Given the description of an element on the screen output the (x, y) to click on. 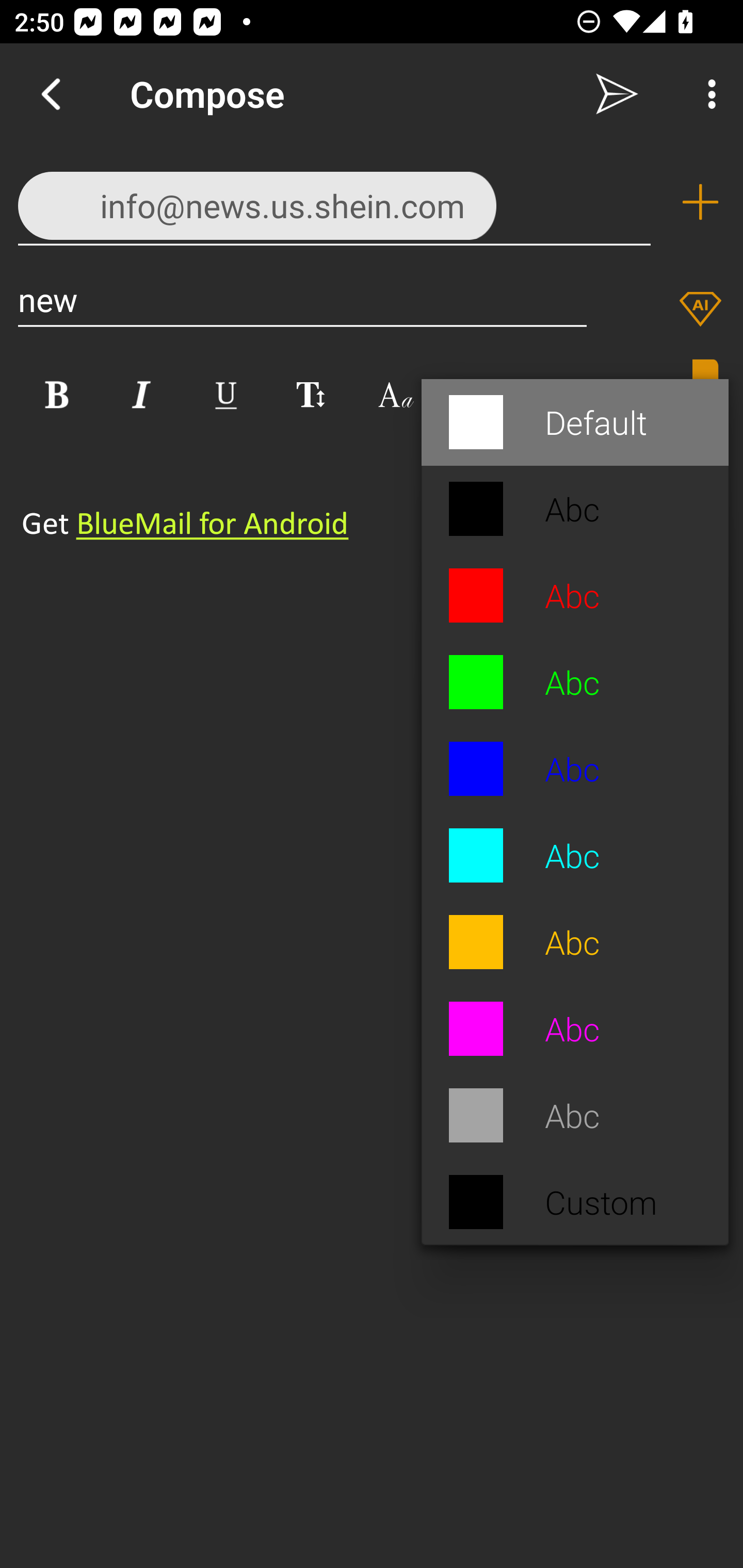
Default (574, 422)
Abc (574, 508)
Abc (574, 595)
Abc (574, 682)
Abc (574, 768)
Abc (574, 855)
Abc (574, 942)
Abc (574, 1029)
Abc (574, 1115)
Custom (574, 1201)
